Given the description of an element on the screen output the (x, y) to click on. 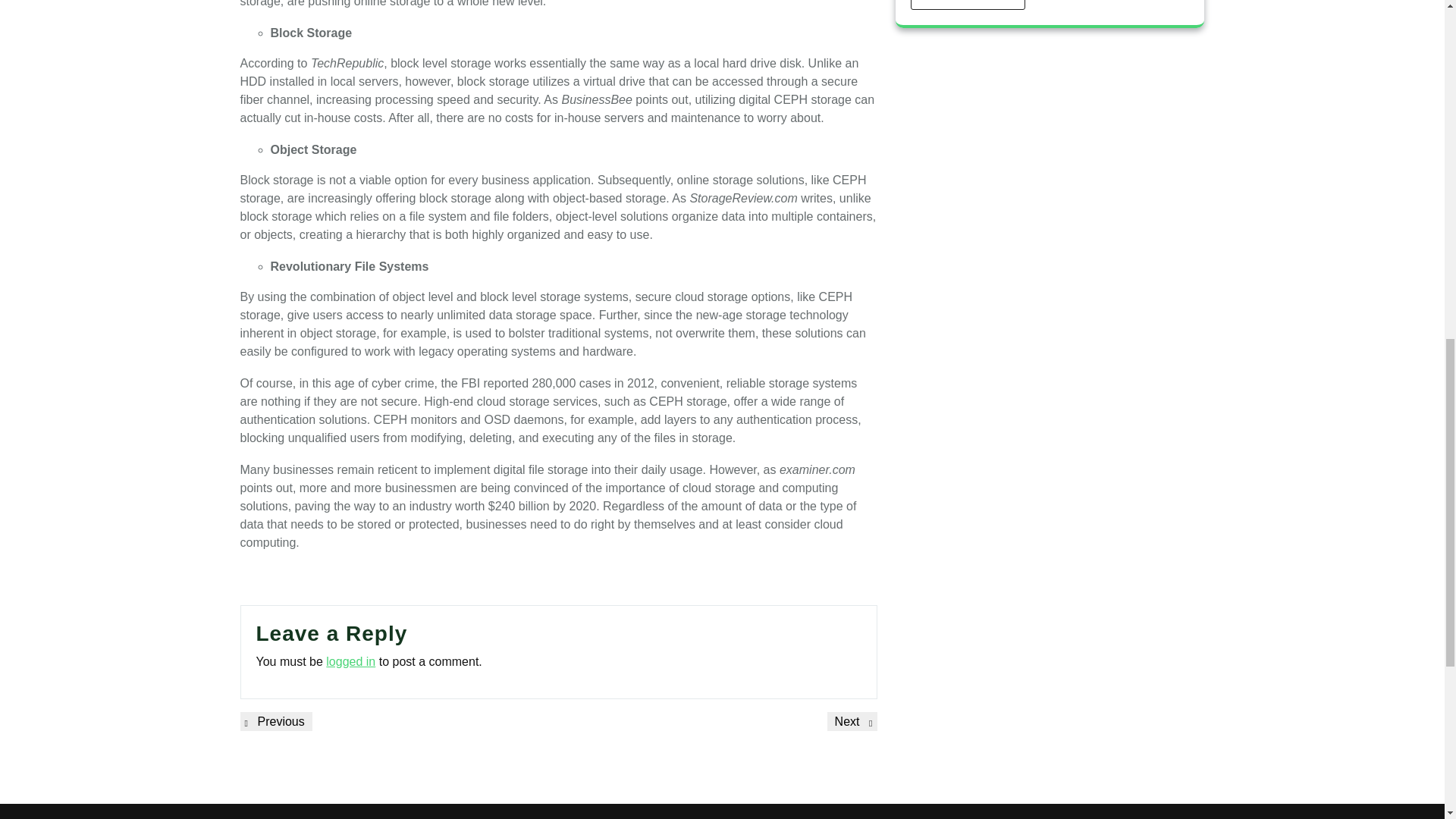
logged in (852, 721)
